Given the description of an element on the screen output the (x, y) to click on. 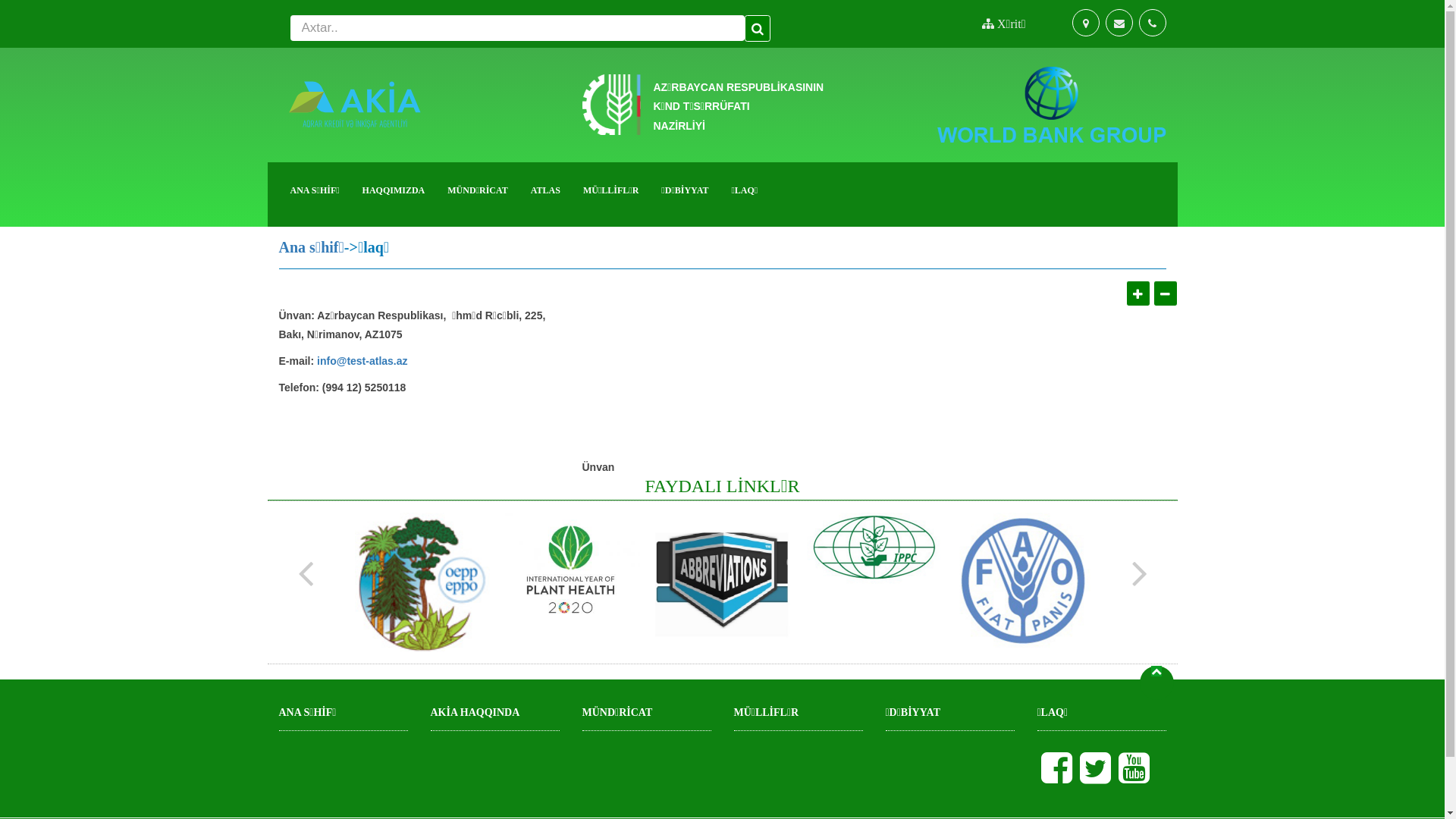
@test-atlas.az Element type: text (371, 362)
info Element type: text (326, 362)
